Given the description of an element on the screen output the (x, y) to click on. 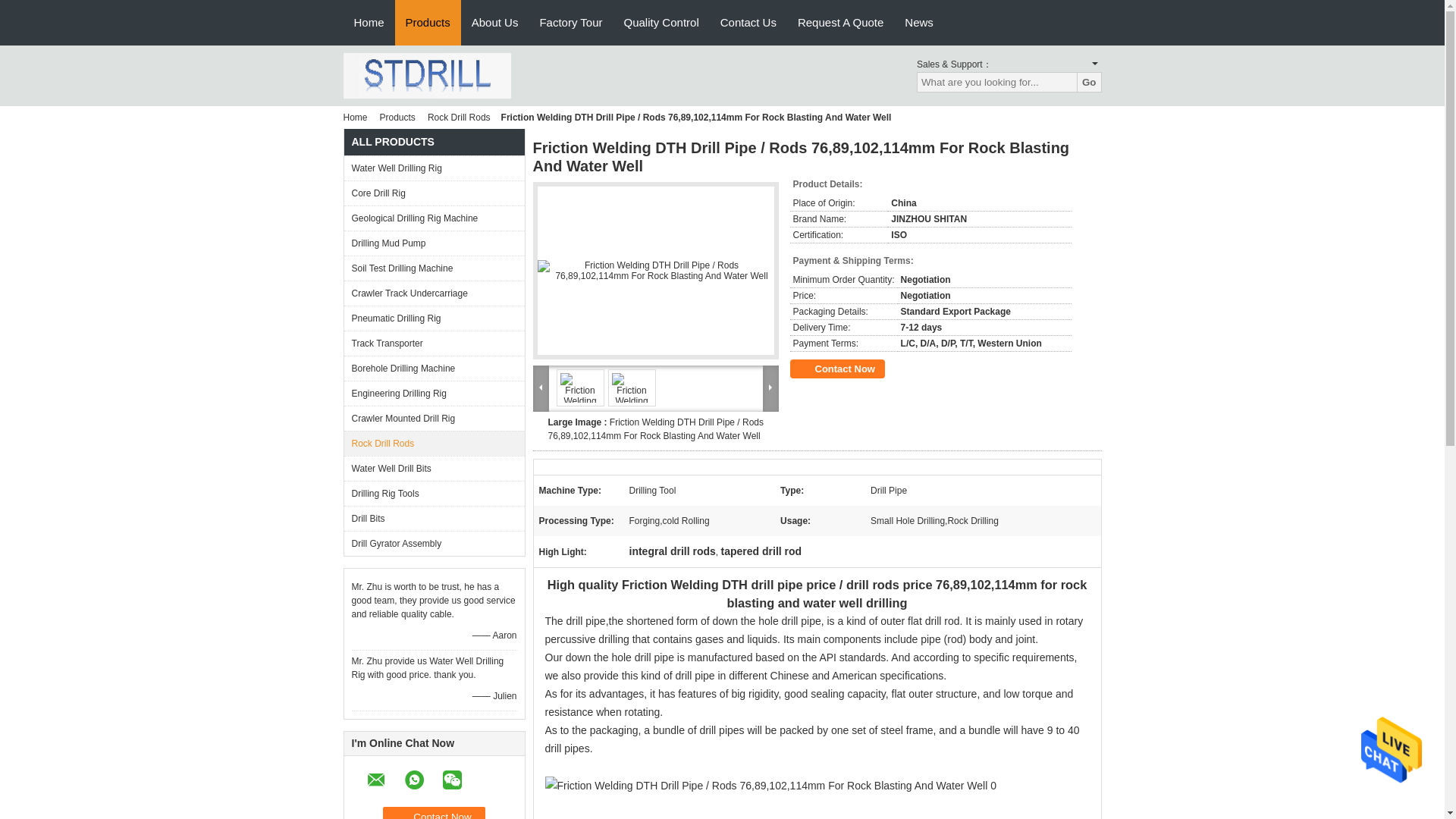
Go (1089, 82)
Contact Now (433, 812)
Products (398, 117)
Soil Test Drilling Machine (433, 267)
Contact Us (748, 22)
News (918, 22)
Core Drill Rig (433, 192)
Jinzhou City Shitan Machinery Equipment CO. LTD. (426, 74)
Home (357, 117)
Home (368, 22)
Crawler Track Undercarriage (433, 292)
Quality Control (661, 22)
About Us (495, 22)
Drilling Mud Pump (433, 242)
Factory Tour (570, 22)
